Given the description of an element on the screen output the (x, y) to click on. 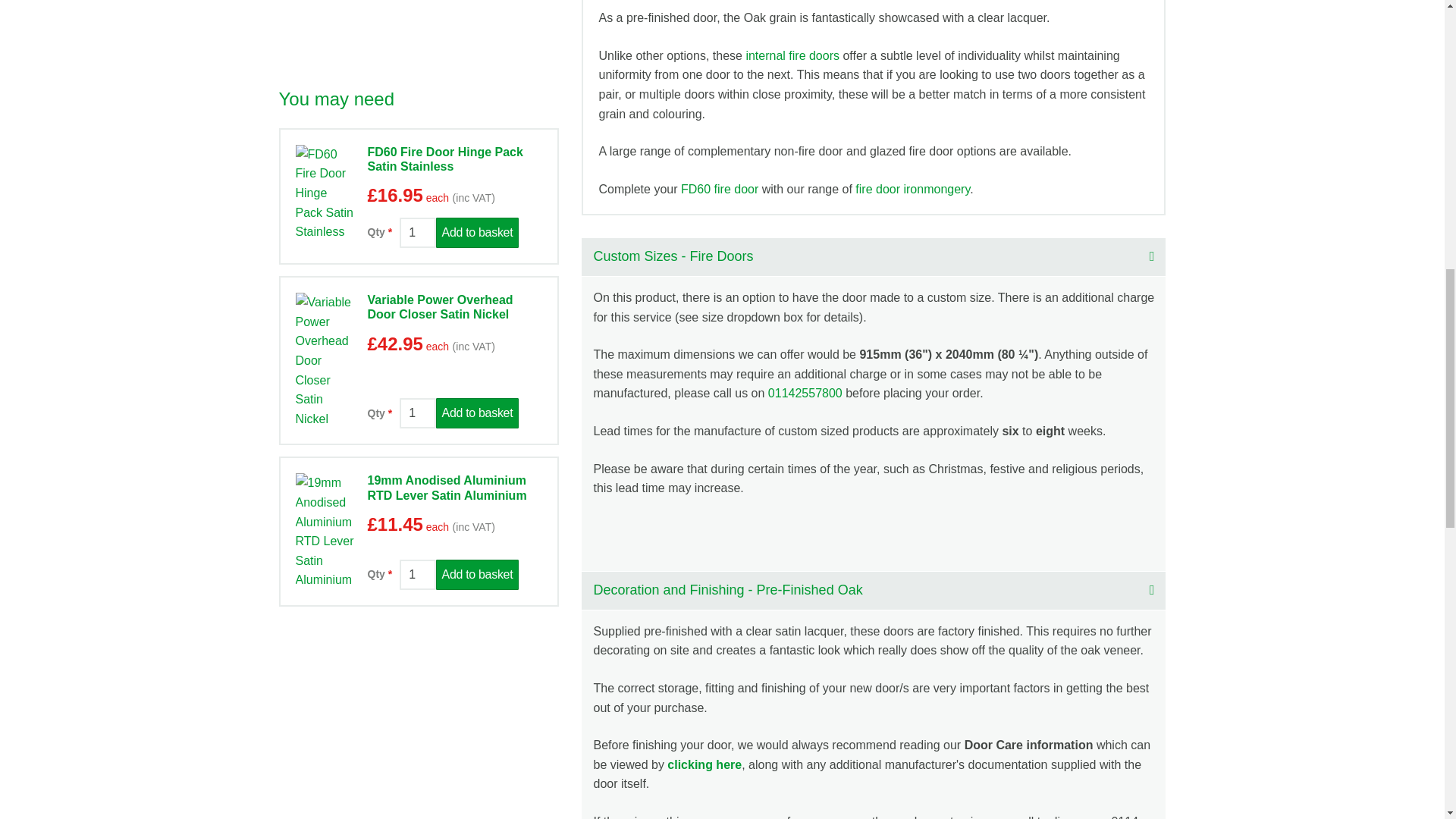
1 (416, 574)
1 (416, 413)
1 (416, 232)
